Given the description of an element on the screen output the (x, y) to click on. 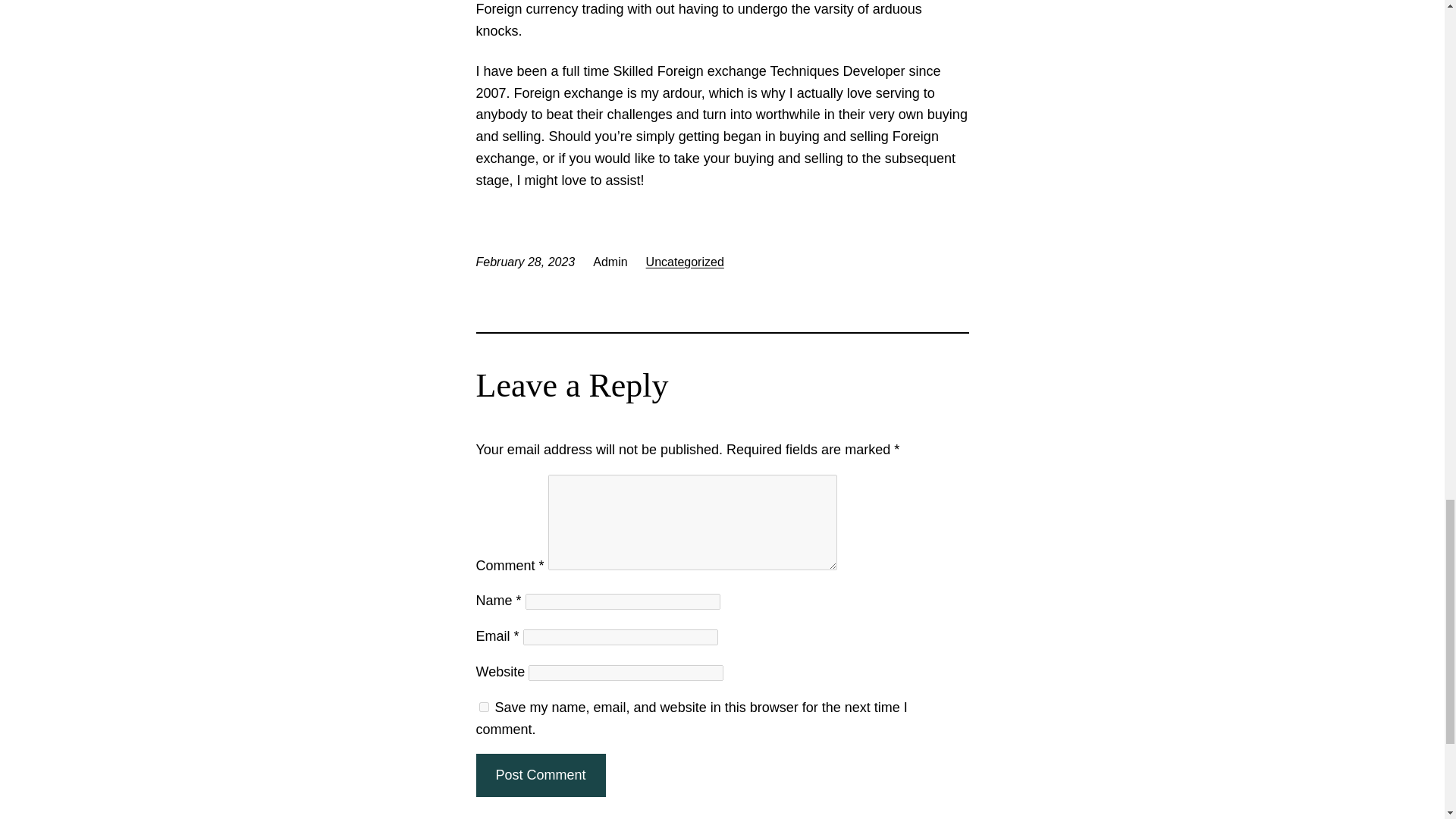
Post Comment (540, 774)
Post Comment (540, 774)
yes (484, 706)
Uncategorized (684, 261)
